Given the description of an element on the screen output the (x, y) to click on. 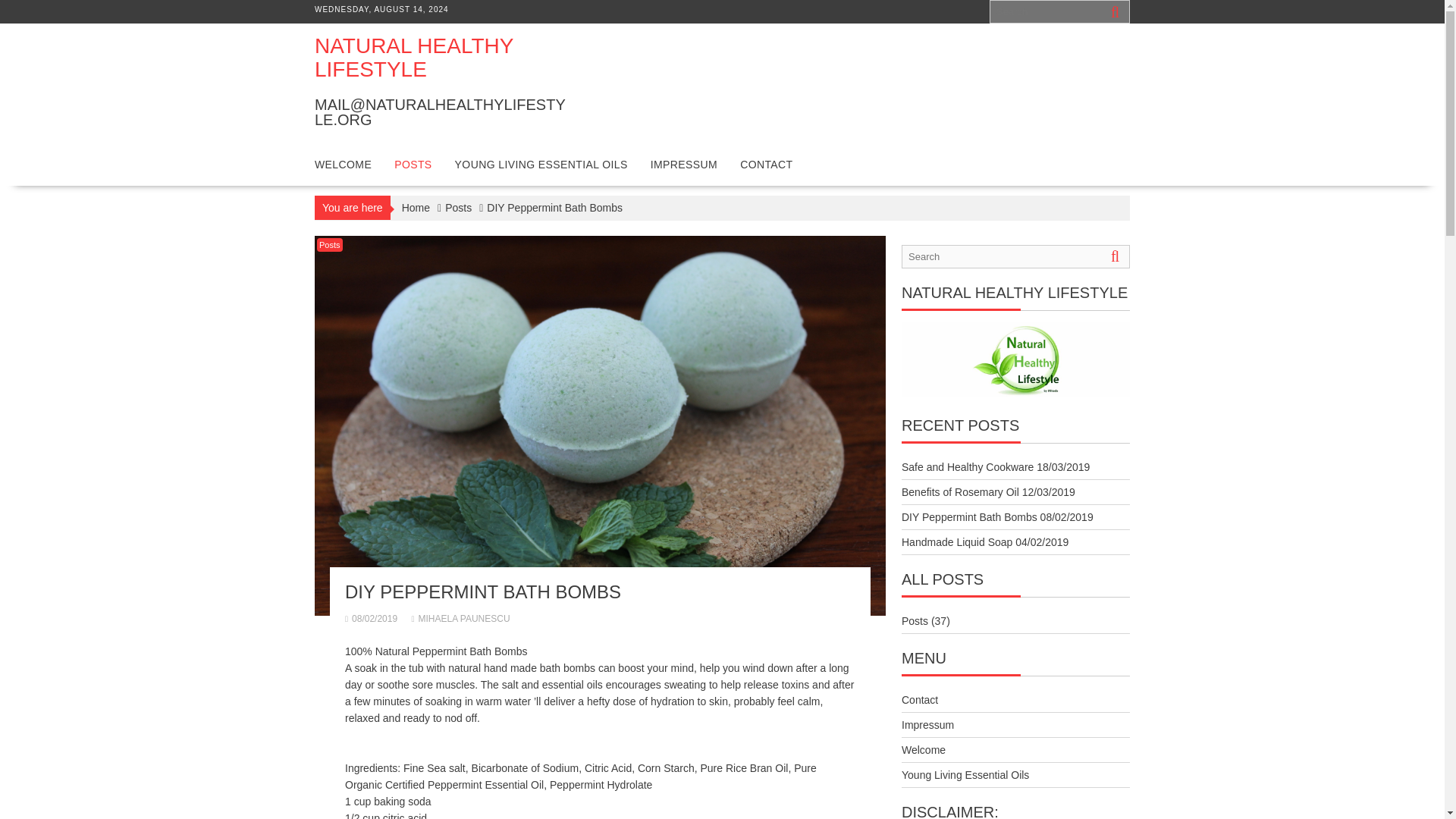
Home (415, 207)
CONTACT (766, 164)
Posts (329, 244)
Posts (458, 207)
IMPRESSUM (684, 164)
POSTS (412, 164)
YOUNG LIVING ESSENTIAL OILS (541, 164)
NATURAL HEALTHY LIFESTYLE (413, 57)
WELCOME (342, 164)
MIHAELA PAUNESCU (459, 618)
